Given the description of an element on the screen output the (x, y) to click on. 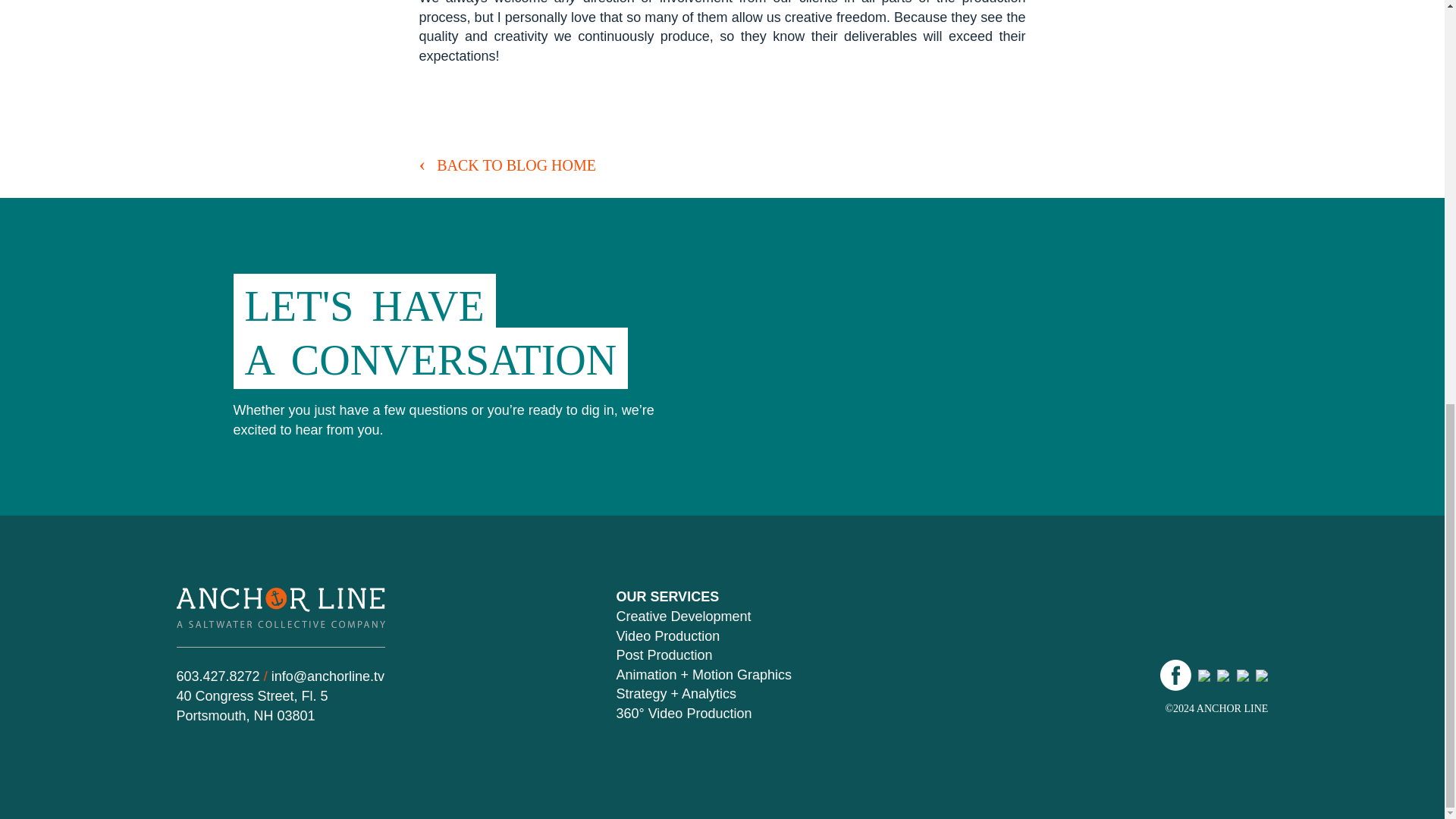
Video Production (667, 635)
Post Production (663, 654)
603.427.8272 (217, 676)
Creative Development (683, 616)
OUR SERVICES (667, 596)
